Given the description of an element on the screen output the (x, y) to click on. 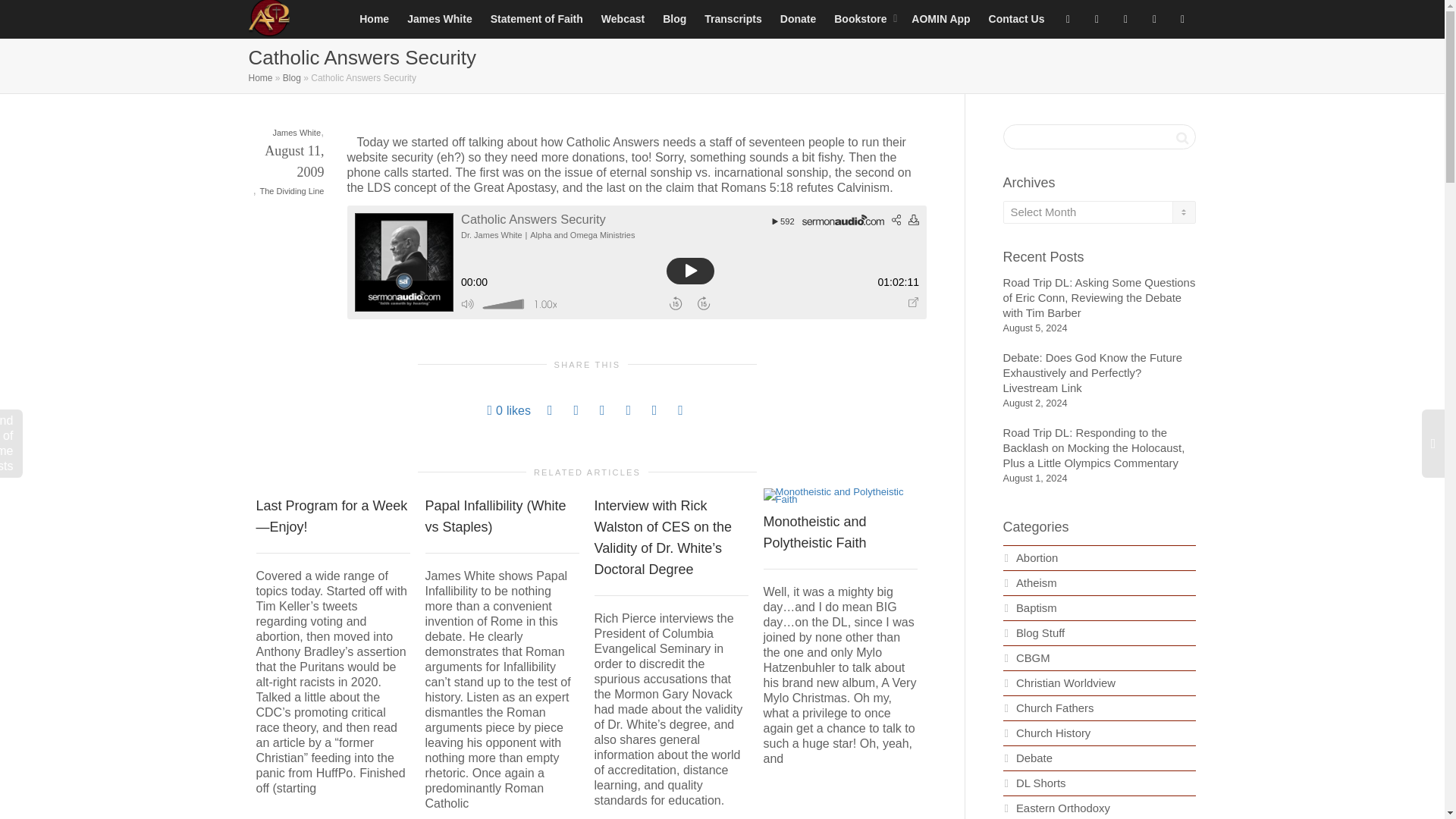
Blog (291, 77)
August 11, 2009 (286, 173)
James White (439, 18)
Search (1181, 137)
Webcast (623, 18)
Donate (797, 18)
James White (296, 132)
AOMIN App (940, 18)
Webcast (623, 18)
Search (1181, 137)
